Given the description of an element on the screen output the (x, y) to click on. 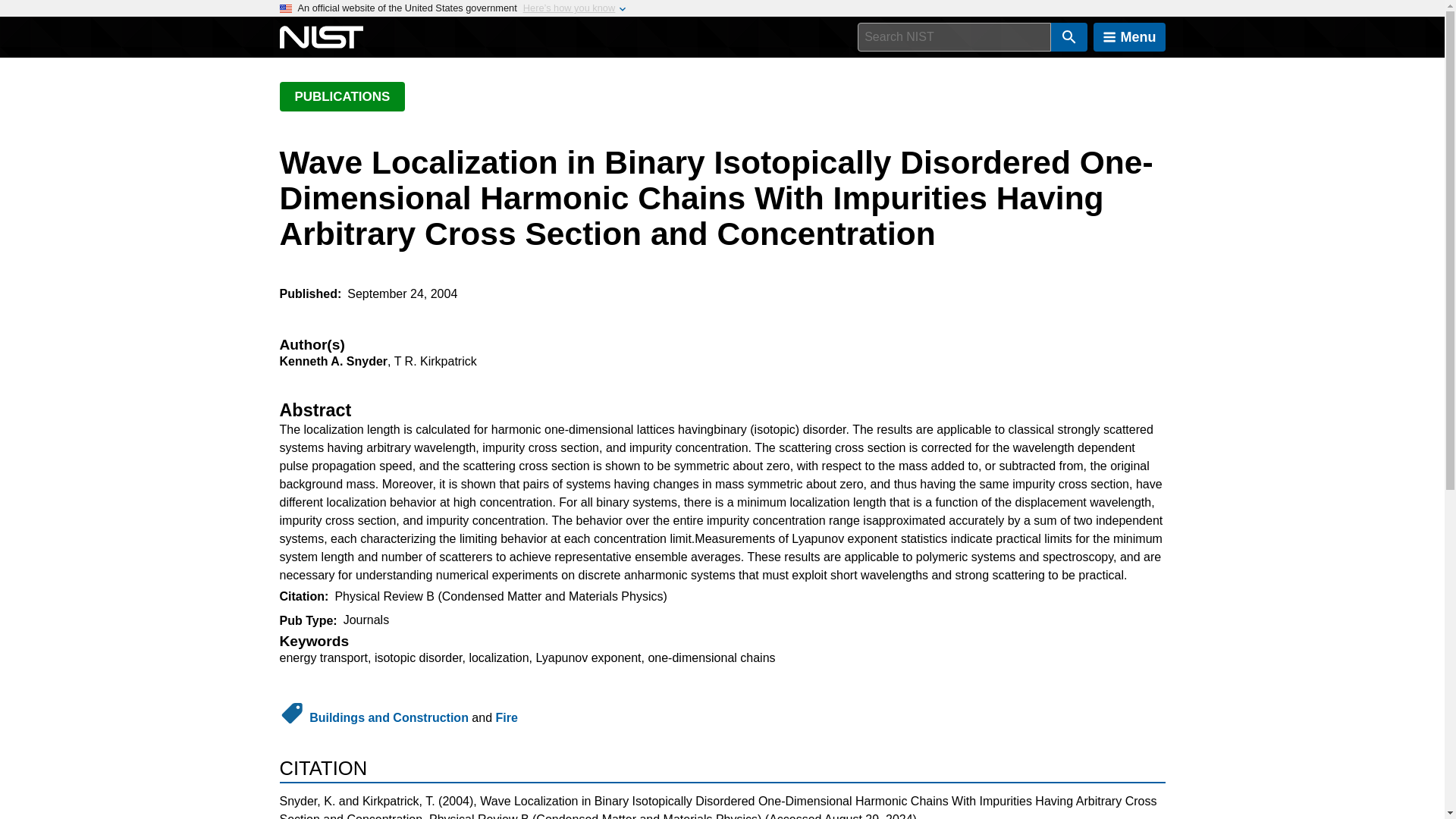
Fire (507, 717)
Menu (1129, 36)
Buildings and Construction (388, 717)
PUBLICATIONS (341, 96)
National Institute of Standards and Technology (320, 36)
